Given the description of an element on the screen output the (x, y) to click on. 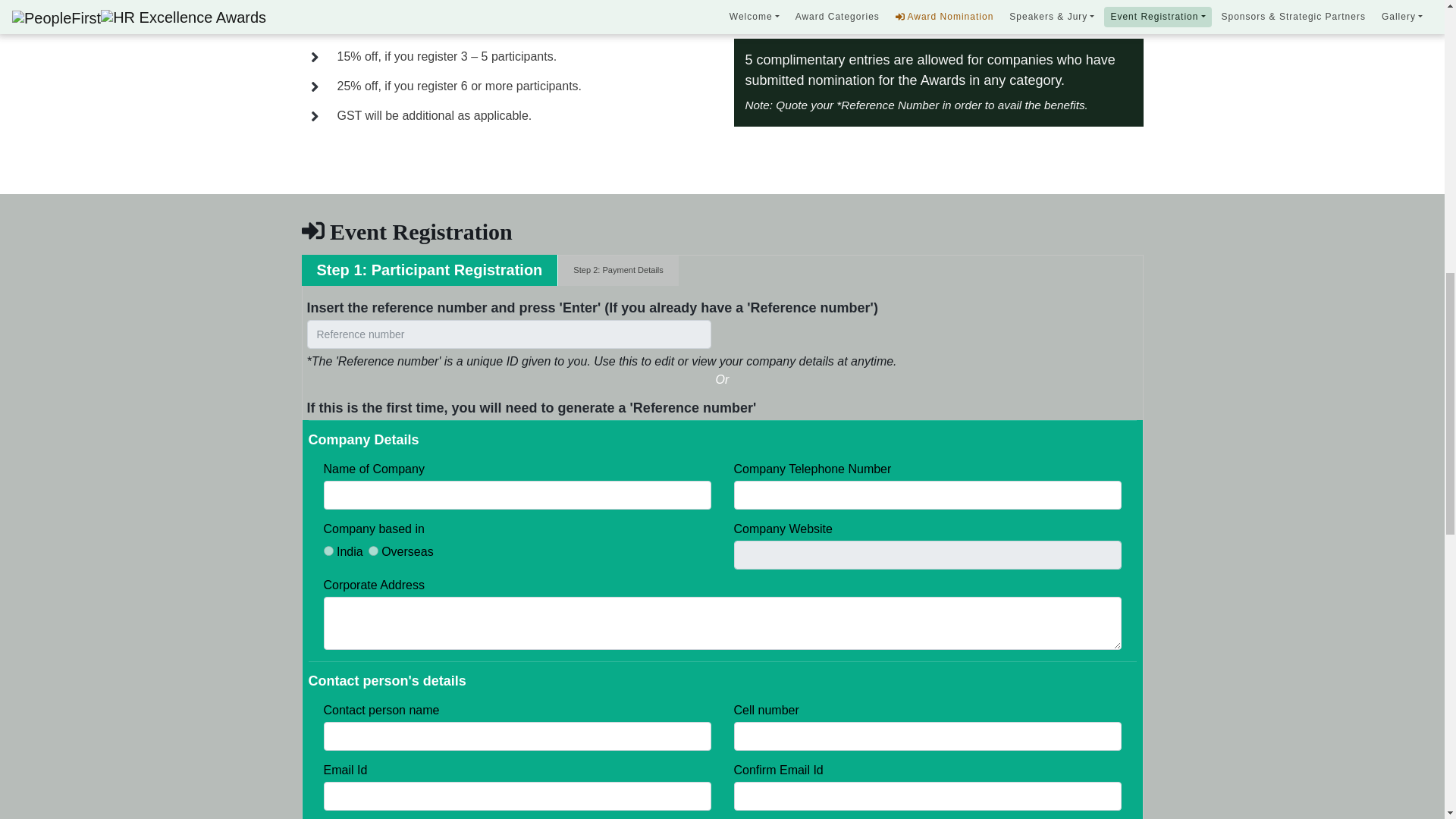
india (328, 551)
international (373, 551)
